Given the description of an element on the screen output the (x, y) to click on. 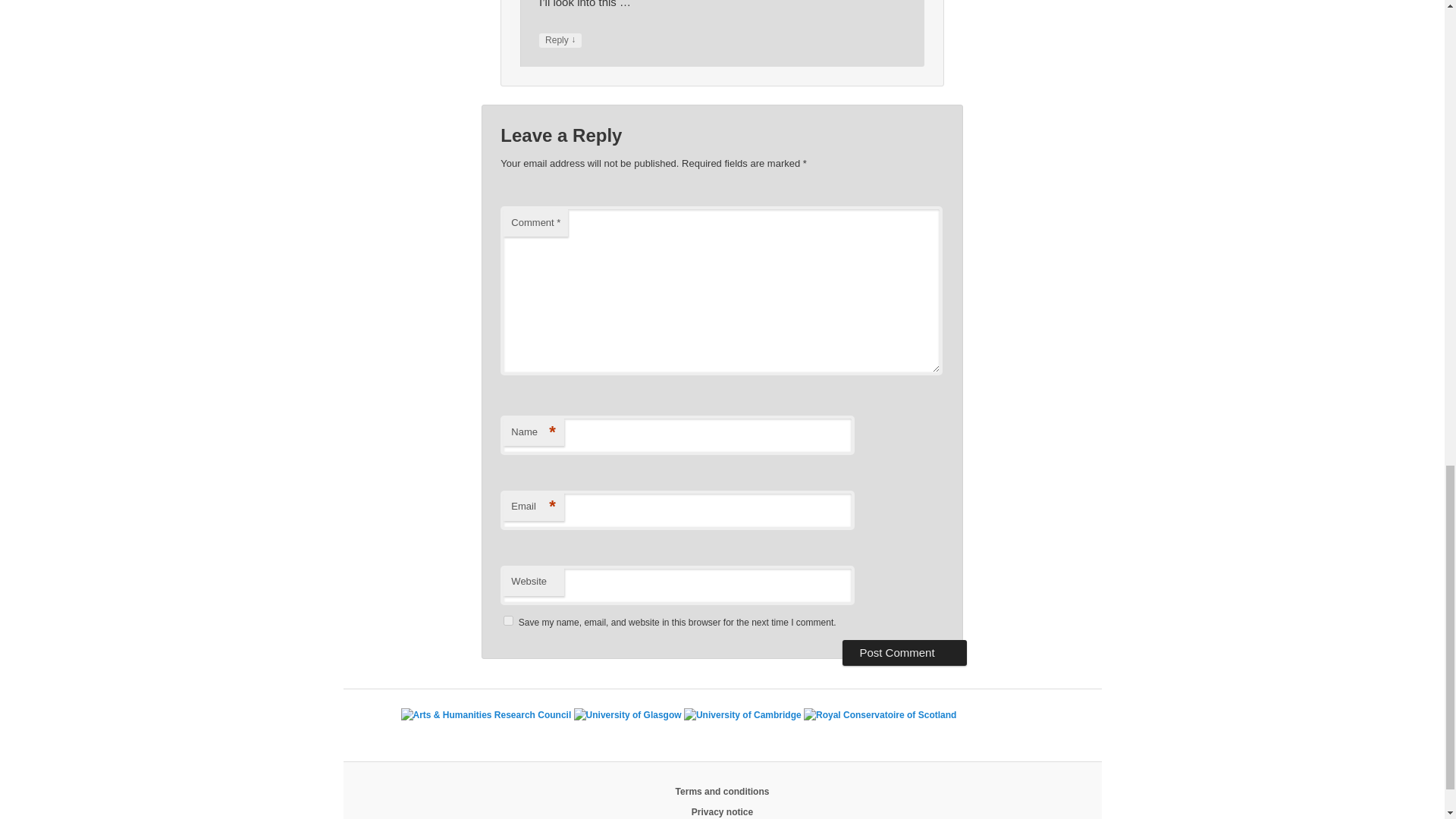
Post Comment (904, 652)
Post Comment (904, 652)
yes (508, 620)
Privacy notice (721, 811)
Terms and conditions (722, 791)
